Given the description of an element on the screen output the (x, y) to click on. 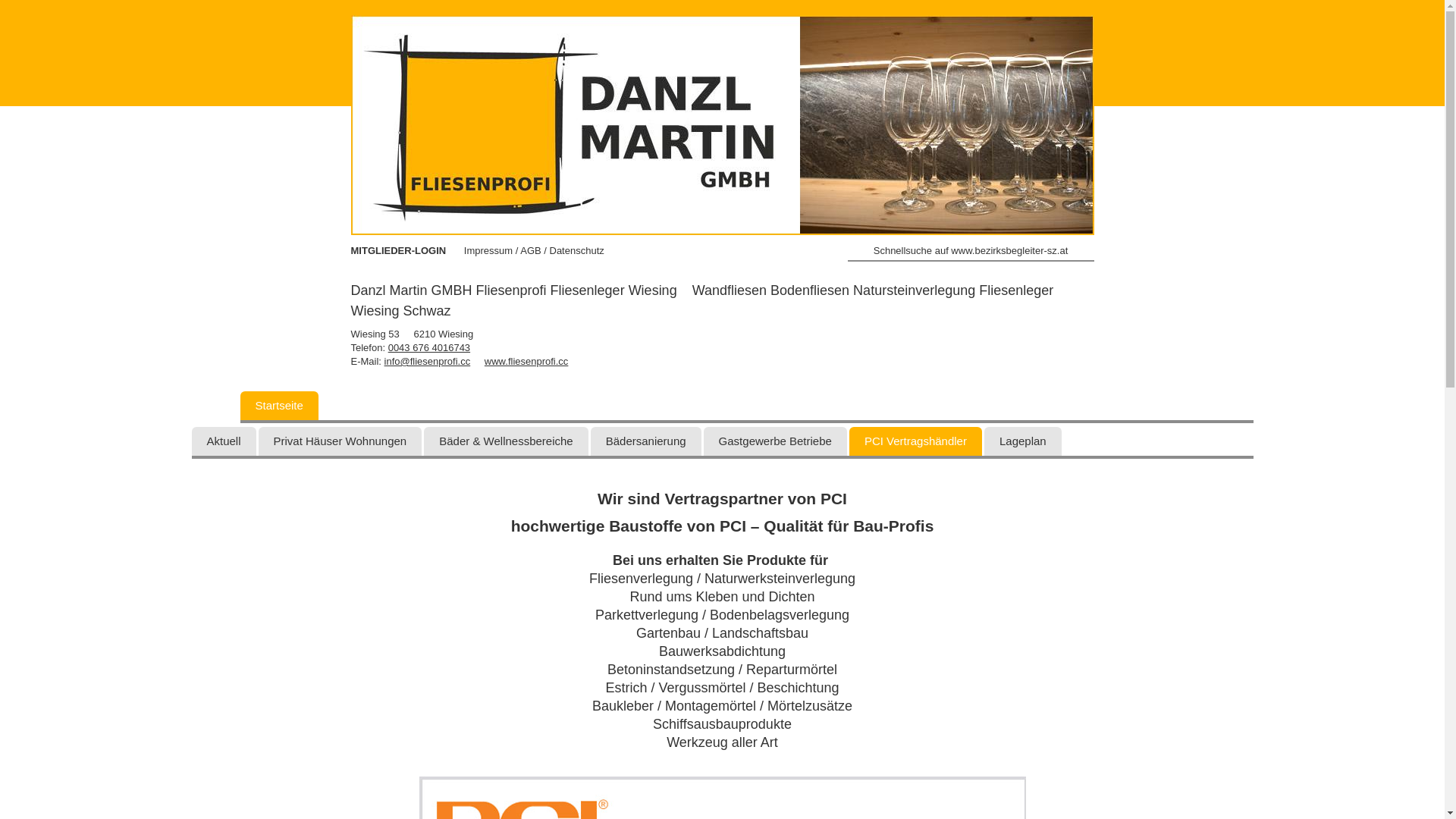
0043 676 4016743 Element type: text (429, 347)
Aktuell Element type: text (223, 440)
Startseite Element type: text (278, 405)
Impressum / AGB / Datenschutz Element type: text (534, 250)
info@fliesenprofi.cc Element type: text (427, 361)
Lageplan Element type: text (1022, 440)
Schnellsuche auf www.bezirksbegleiter-sz.at Element type: text (970, 252)
MITGLIEDER-LOGIN Element type: text (397, 250)
Gastgewerbe Betriebe Element type: text (775, 440)
www.fliesenprofi.cc Element type: text (526, 361)
